Given the description of an element on the screen output the (x, y) to click on. 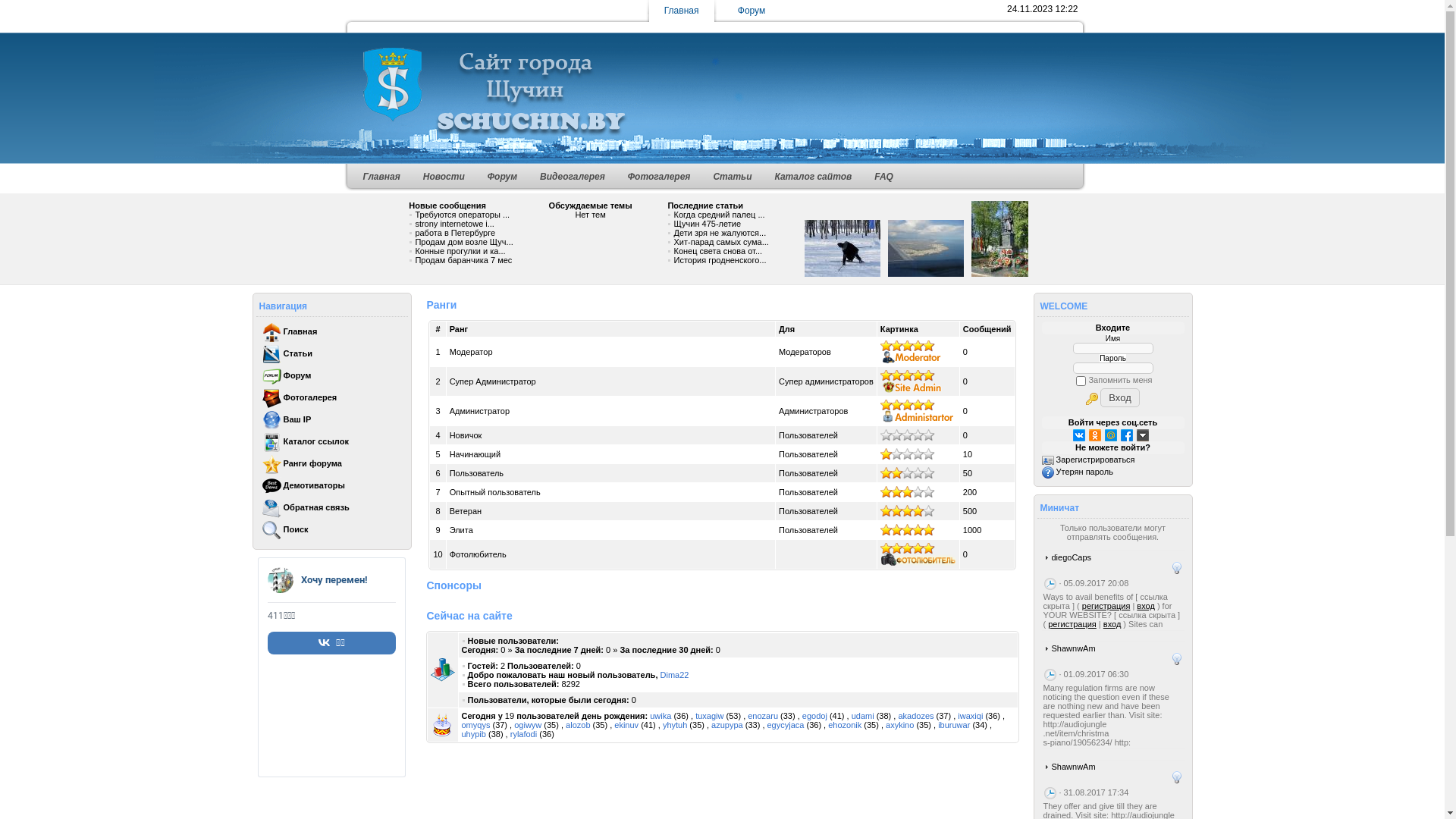
axykino Element type: text (899, 724)
tuxagiw Element type: text (709, 715)
uhypib Element type: text (473, 733)
Facebook Element type: hover (1126, 435)
Dima22 Element type: text (673, 674)
strony internetowe i... Element type: text (454, 223)
--- Element type: hover (842, 247)
enozaru Element type: text (762, 715)
alozob Element type: text (577, 724)
FAQ Element type: text (883, 176)
Mail.ru Element type: hover (1110, 435)
egycyjaca Element type: text (785, 724)
uwika Element type: text (660, 715)
yhytuh Element type: text (674, 724)
ShawnwAm Element type: text (1073, 766)
iburuwar Element type: text (953, 724)
diegoCaps Element type: text (1071, 556)
ogiwyw Element type: text (527, 724)
Statistics Element type: hover (442, 670)
azupypa Element type: text (727, 724)
ehozonik Element type: text (844, 724)
ekinuv Element type: text (626, 724)
VK Element type: hover (1079, 435)
akadozes Element type: text (915, 715)
rylafodi Element type: text (523, 733)
iwaxiqi Element type: text (969, 715)
ShawnwAm Element type: text (1073, 647)
udami Element type: text (862, 715)
omyqys Element type: text (475, 724)
Odnoklassniki Element type: hover (1094, 435)
egodoj Element type: text (814, 715)
